Given the description of an element on the screen output the (x, y) to click on. 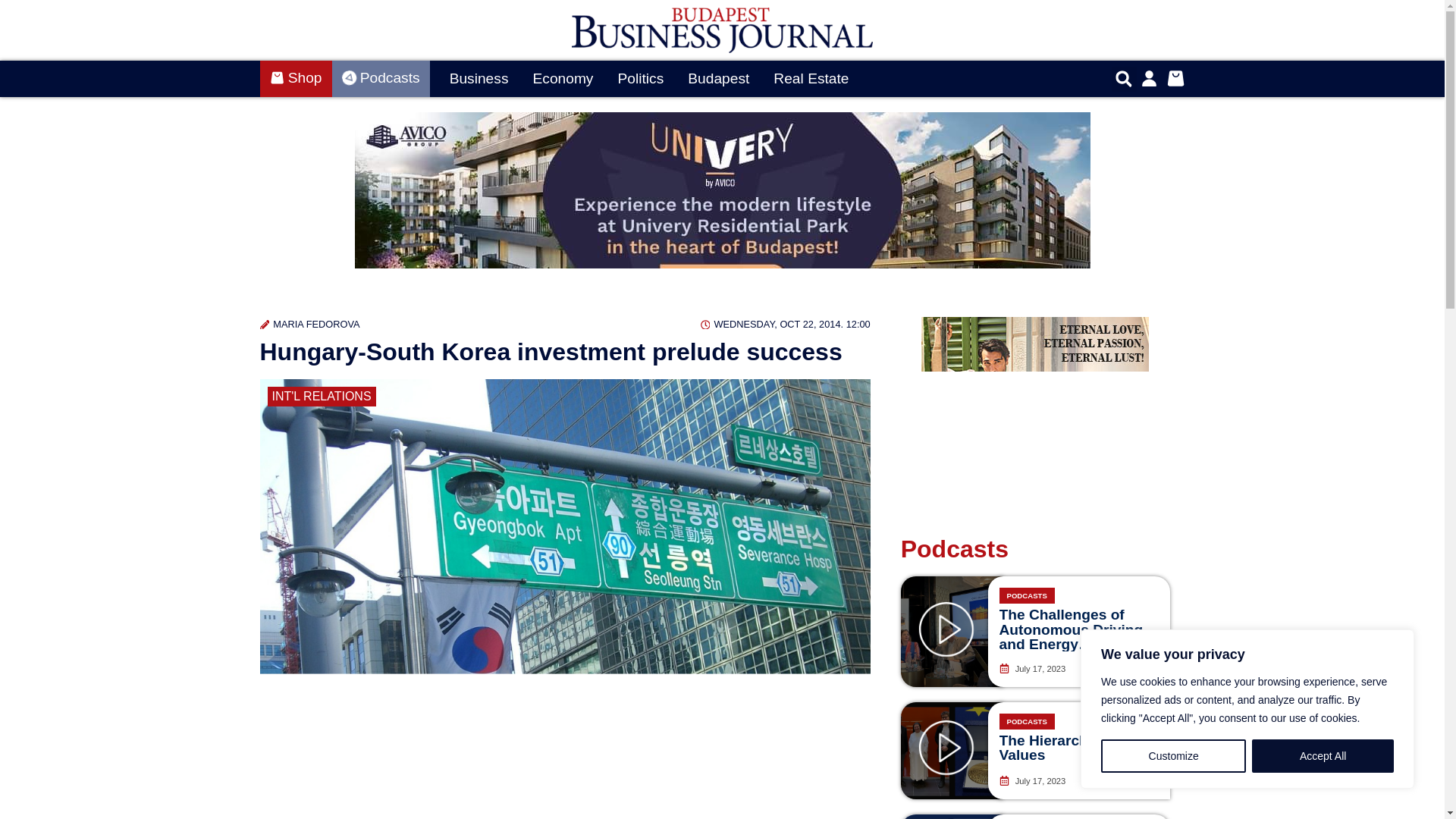
Shop (295, 78)
INT'L RELATIONS (320, 396)
Economy (562, 78)
Accept All (1322, 756)
Politics (640, 78)
Budapest (718, 78)
WEDNESDAY, OCT 22, 2014. 12:00 (785, 323)
Podcasts (380, 78)
Real Estate (810, 78)
MARIA FEDOROVA (309, 323)
Business (478, 78)
Customize (1173, 756)
